Given the description of an element on the screen output the (x, y) to click on. 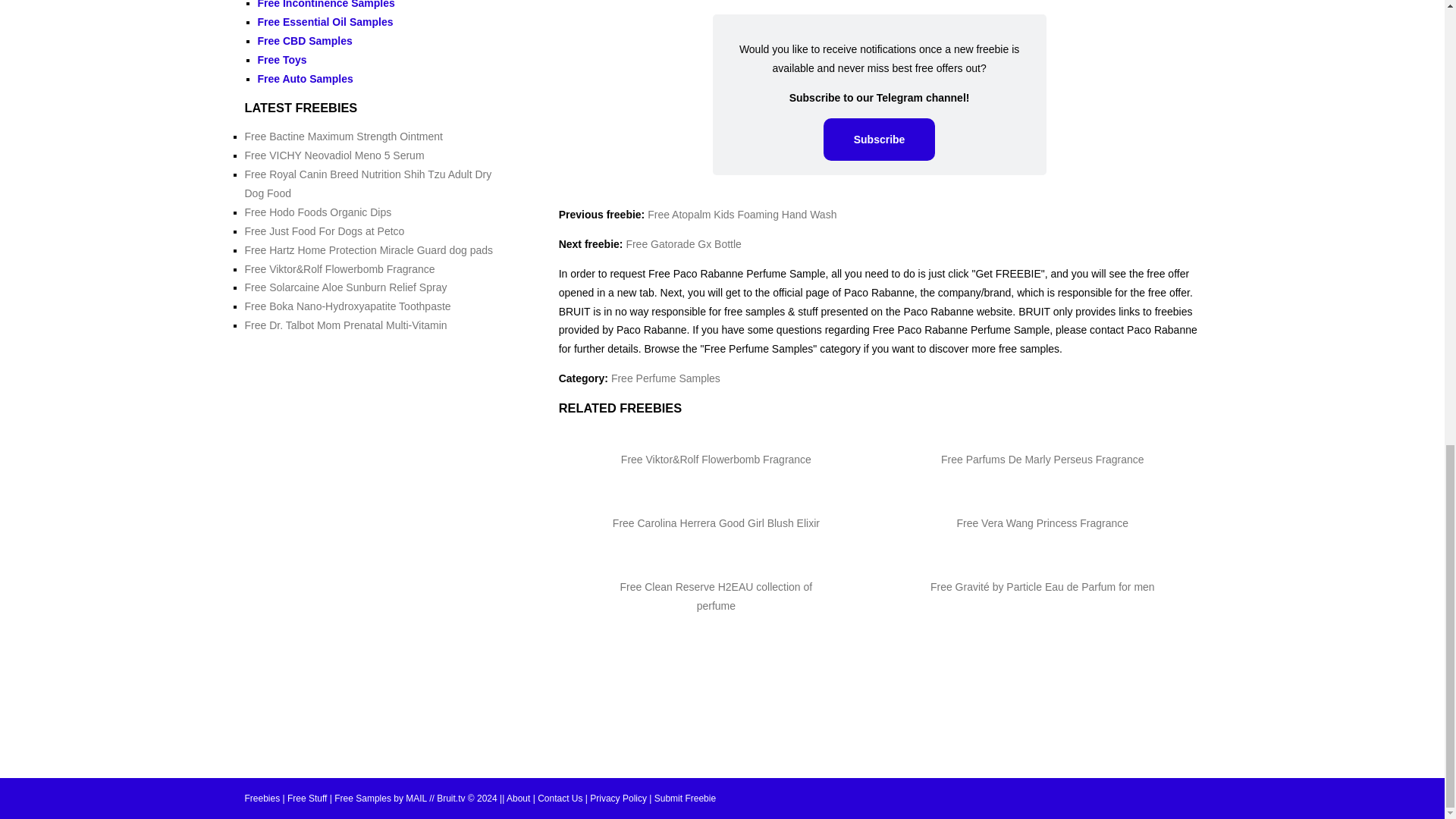
Free Vera Wang Princess Fragrance (1042, 522)
Free Carolina Herrera Good Girl Blush Elixir (715, 522)
Free Clean Reserve H2EAU collection of perfume (716, 595)
Free Parfums De Marly Perseus Fragrance (1042, 459)
Free Atopalm Kids Foaming Hand Wash (741, 214)
Subscribe (880, 138)
Free Perfume Samples (665, 378)
Free Gatorade Gx Bottle (683, 244)
